Given the description of an element on the screen output the (x, y) to click on. 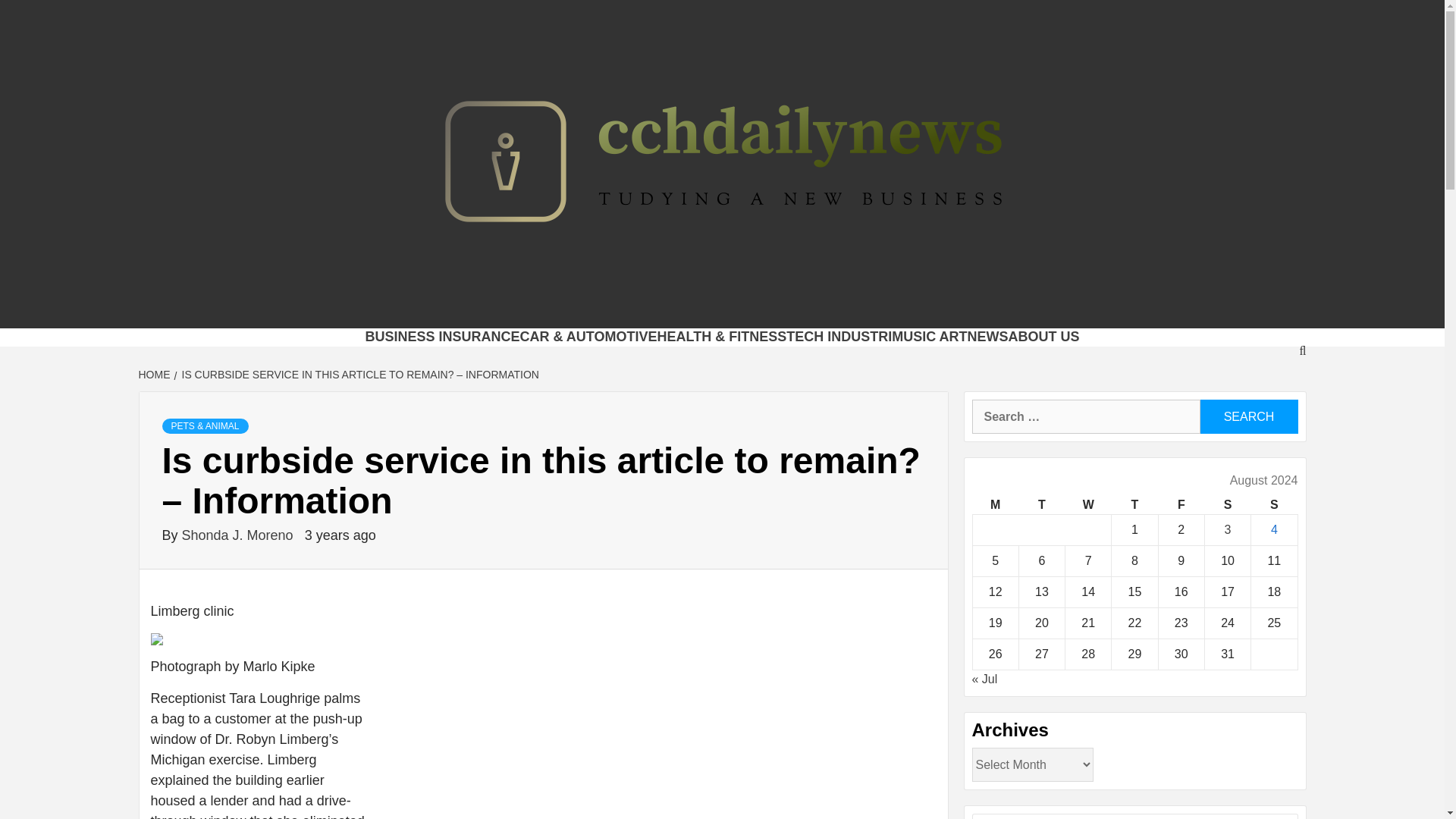
Monday (994, 505)
Sunday (1273, 505)
Search (1248, 416)
HOME (155, 374)
NEWS (988, 336)
ABOUT US (1044, 336)
Wednesday (1088, 505)
BUSINESS INSURANCE (442, 336)
CCHDAILYNEWS (447, 309)
Shonda J. Moreno (239, 534)
